Given the description of an element on the screen output the (x, y) to click on. 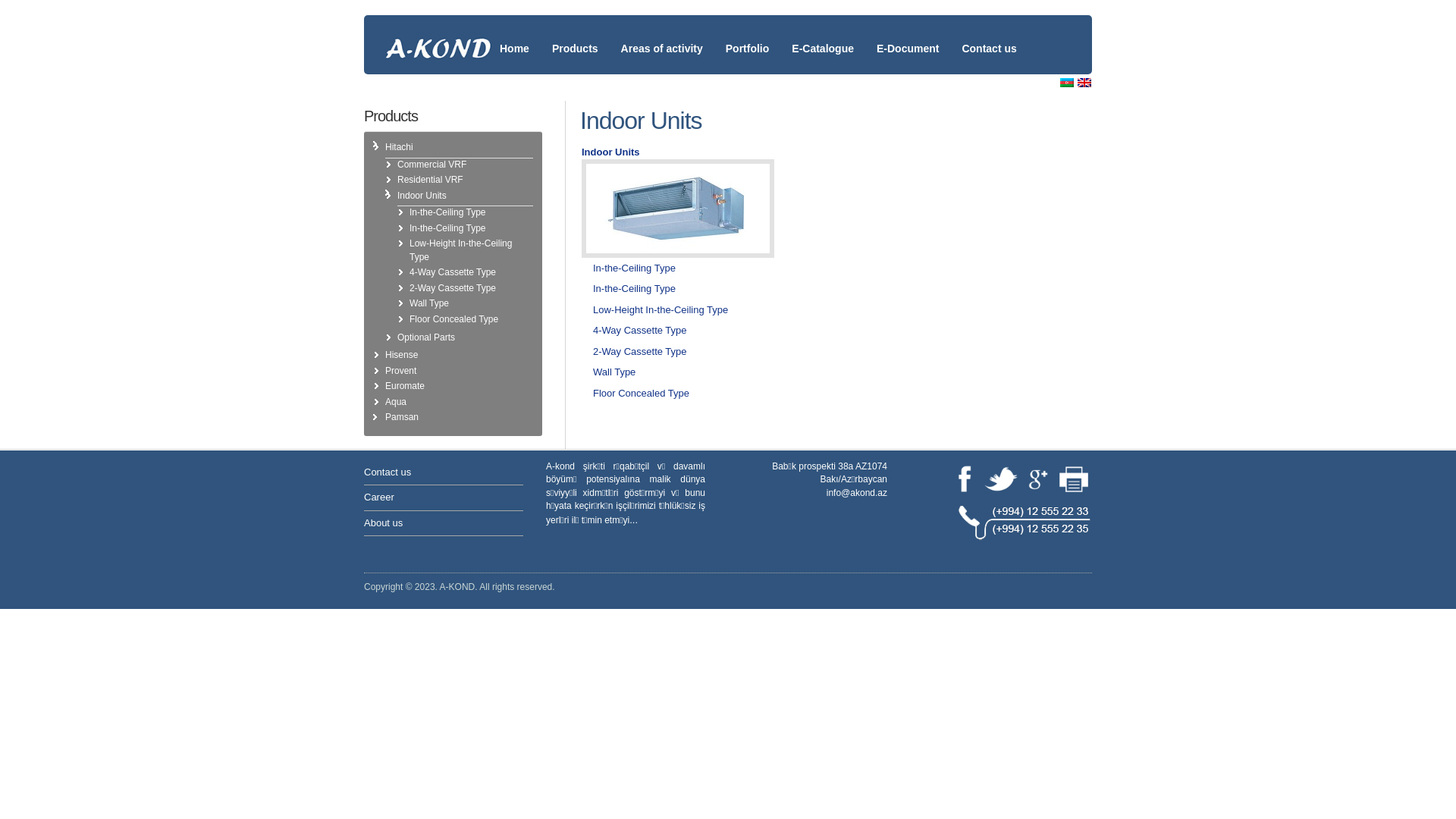
Hisense Element type: text (401, 354)
Residential VRF Element type: text (430, 179)
Portfolio Element type: text (747, 35)
Contact us Element type: text (387, 471)
In-the-Ceiling Type Element type: text (447, 212)
In-the-Ceiling Type Element type: text (634, 267)
In-the-Ceiling Type Element type: text (634, 288)
Indoor Units Element type: hover (677, 208)
Hitachi Element type: text (399, 146)
2-Way Cassette Type Element type: text (640, 351)
Pamsan Element type: text (401, 416)
Floor Concealed Type Element type: text (641, 392)
... Element type: text (633, 519)
Areas of activity Element type: text (661, 35)
Products Element type: text (574, 35)
Low-Height In-the-Ceiling Type Element type: text (660, 309)
Contact us Element type: text (988, 35)
Euromate Element type: text (404, 385)
E-Document Element type: text (907, 35)
Wall Type Element type: text (428, 303)
Wall Type Element type: text (614, 371)
4-Way Cassette Type Element type: text (640, 329)
Career Element type: text (379, 496)
Aqua Element type: text (395, 401)
Low-Height In-the-Ceiling Type Element type: text (460, 250)
Provent Element type: text (400, 370)
In-the-Ceiling Type Element type: text (447, 227)
About us Element type: text (383, 522)
4-Way Cassette Type Element type: text (452, 271)
Indoor Units Element type: hover (677, 254)
E-Catalogue Element type: text (822, 35)
Optional Parts Element type: text (426, 337)
English (en) Element type: hover (1084, 83)
Home Element type: text (514, 35)
Floor Concealed Type Element type: text (453, 318)
2-Way Cassette Type Element type: text (452, 287)
Indoor Units Element type: text (610, 151)
Indoor Units Element type: text (421, 195)
Commercial VRF Element type: text (431, 164)
